Given the description of an element on the screen output the (x, y) to click on. 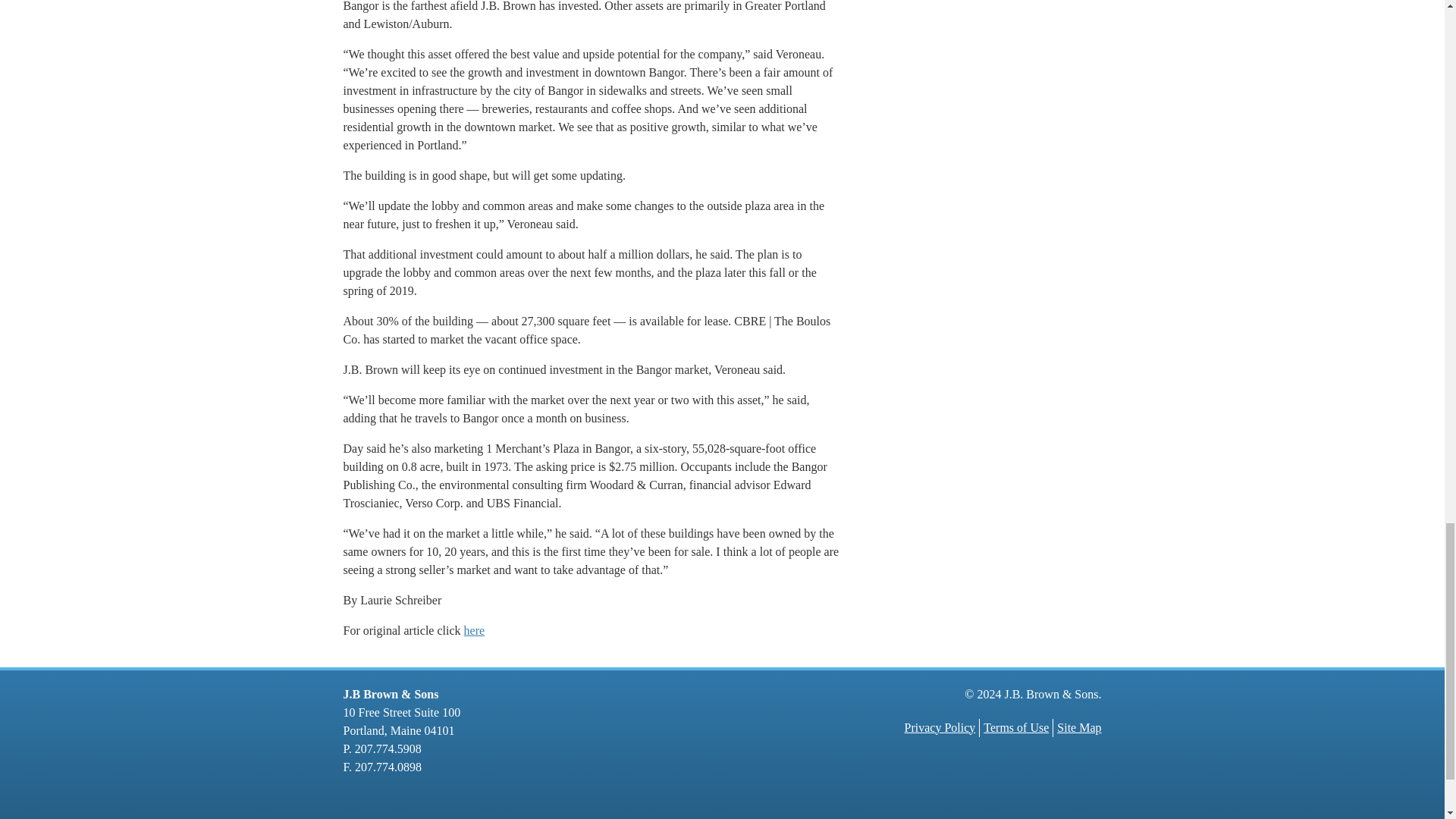
Site Map (1078, 727)
Terms of Use (1016, 727)
Terms of Use (1016, 727)
Privacy Policy (939, 727)
Privacy Policy (939, 727)
Site Map (1078, 727)
here (474, 630)
